Given the description of an element on the screen output the (x, y) to click on. 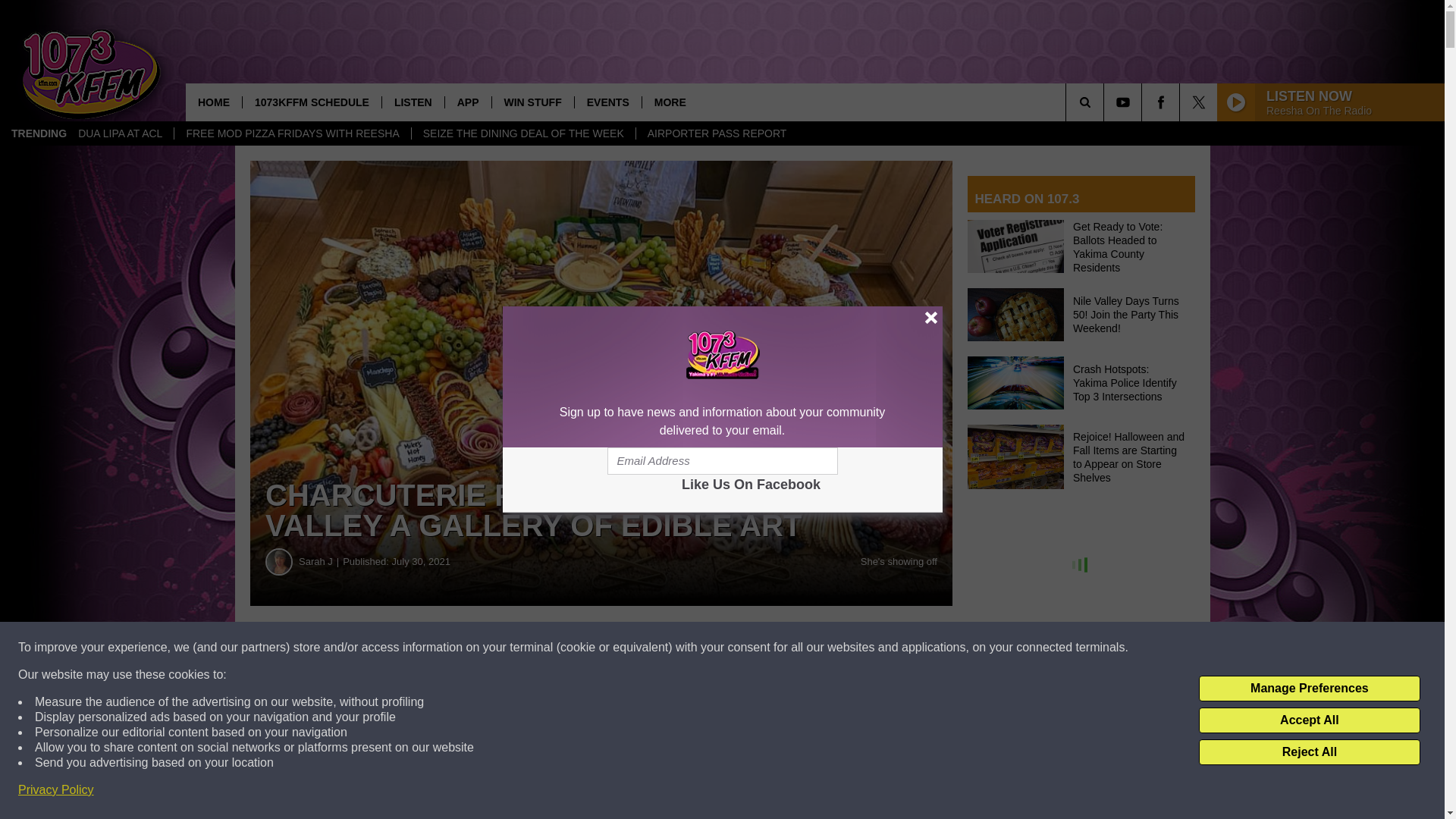
APP (468, 102)
DUA LIPA AT ACL (119, 133)
EVENTS (607, 102)
Privacy Policy (55, 789)
Share on Facebook (460, 647)
SEARCH (1106, 102)
WIN STUFF (532, 102)
Accept All (1309, 720)
Reject All (1309, 751)
Manage Preferences (1309, 688)
Email Address (722, 461)
FREE MOD PIZZA FRIDAYS WITH REESHA (291, 133)
HOME (213, 102)
AIRPORTER PASS REPORT (715, 133)
Share on Twitter (741, 647)
